Given the description of an element on the screen output the (x, y) to click on. 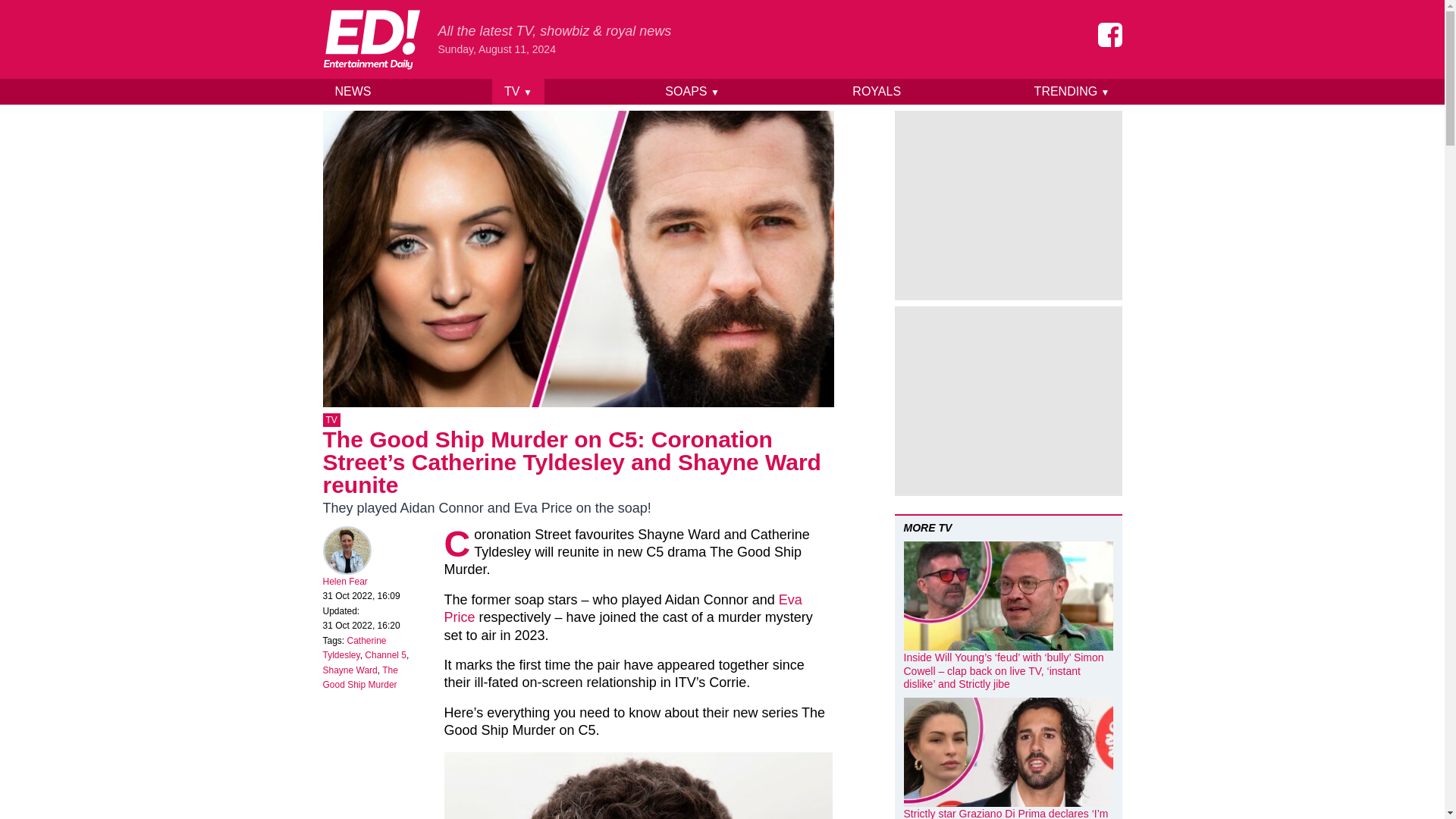
TV (331, 419)
Helen Fear (345, 581)
Eva Price (623, 608)
ROYALS (876, 91)
The Good Ship Murder (360, 678)
Catherine Tyldesley (355, 647)
Channel 5 (385, 655)
NEWS (353, 91)
Shayne Ward (350, 670)
